Given the description of an element on the screen output the (x, y) to click on. 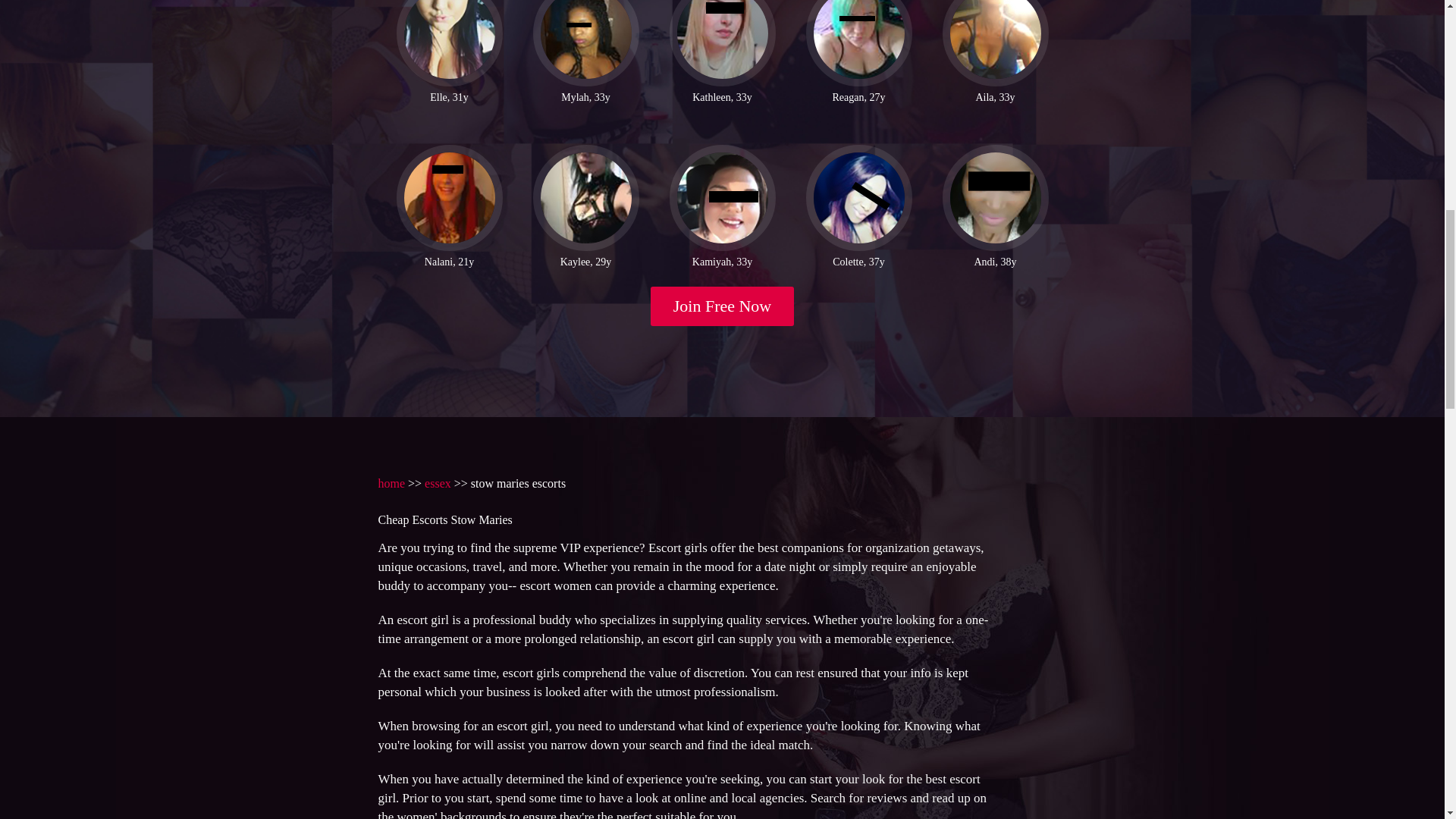
essex (438, 482)
Join (722, 305)
home (390, 482)
Join Free Now (722, 305)
